Given the description of an element on the screen output the (x, y) to click on. 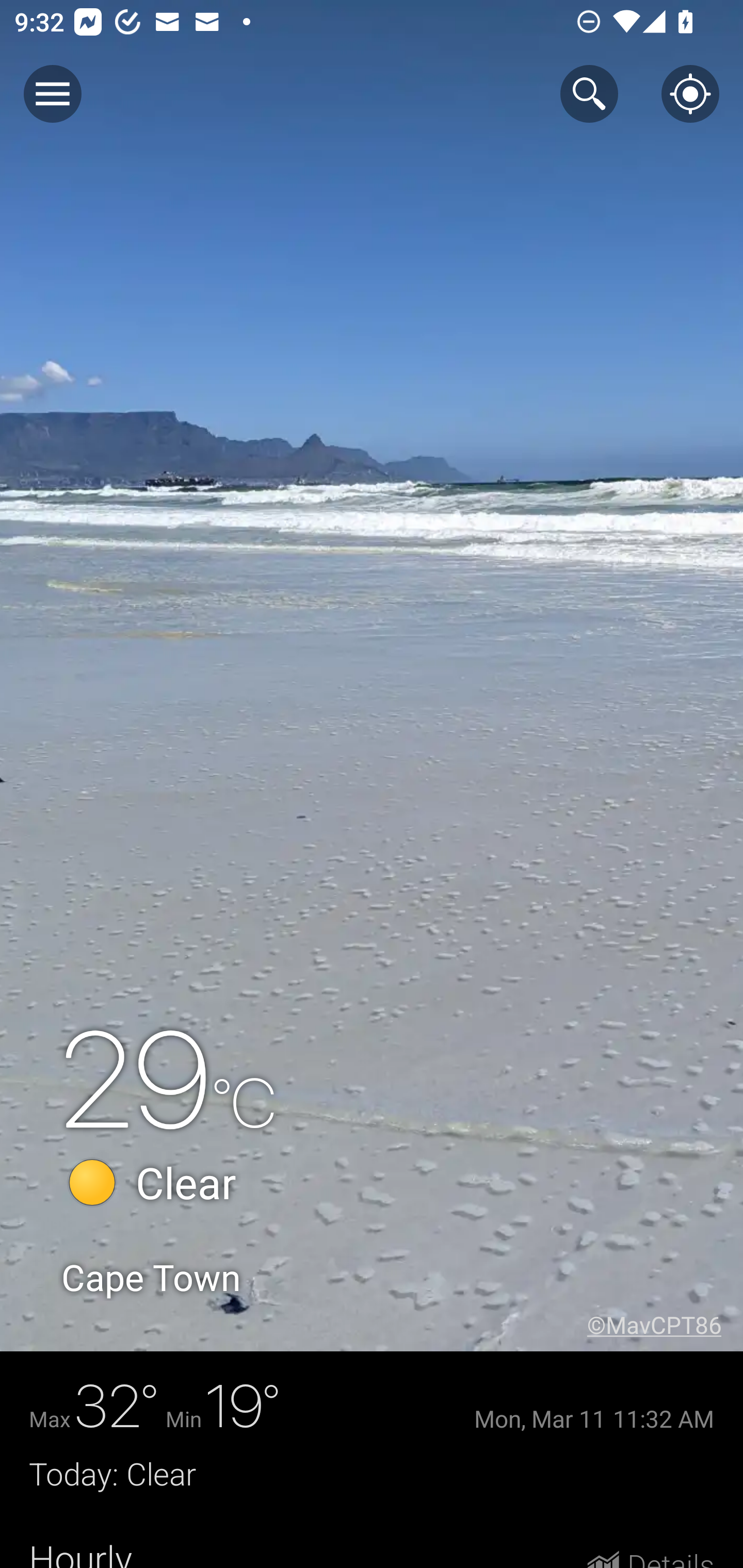
©MavCPT86 (664, 1324)
